Given the description of an element on the screen output the (x, y) to click on. 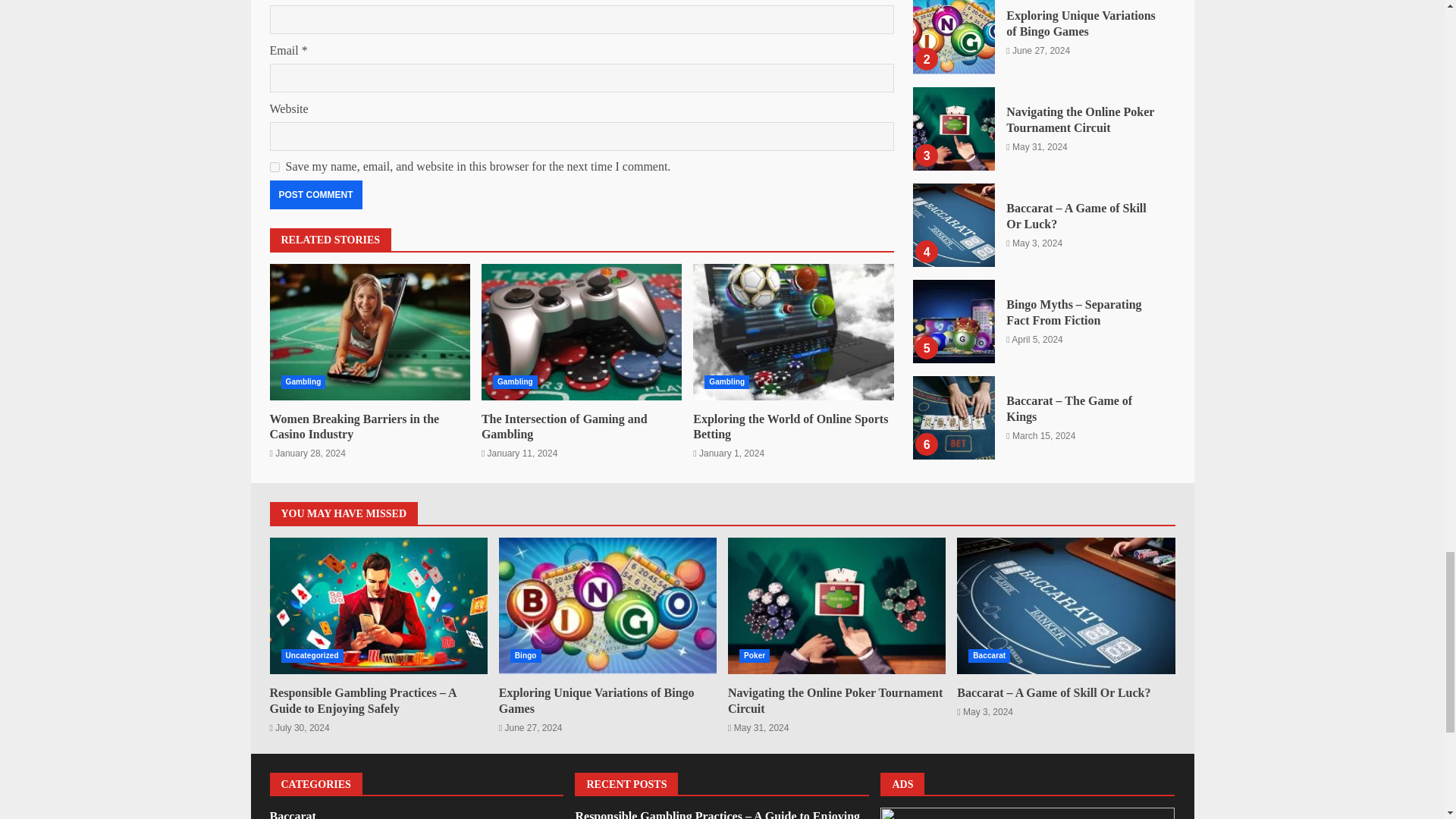
Exploring the World of Online Sports Betting (790, 426)
The Intersection of Gaming and Gambling (581, 331)
Women Breaking Barriers in the Casino Industry (369, 331)
Gambling (515, 382)
Post Comment (315, 194)
The Intersection of Gaming and Gambling (564, 426)
Gambling (726, 382)
Gambling (302, 382)
Post Comment (315, 194)
Women Breaking Barriers in the Casino Industry (354, 426)
